Given the description of an element on the screen output the (x, y) to click on. 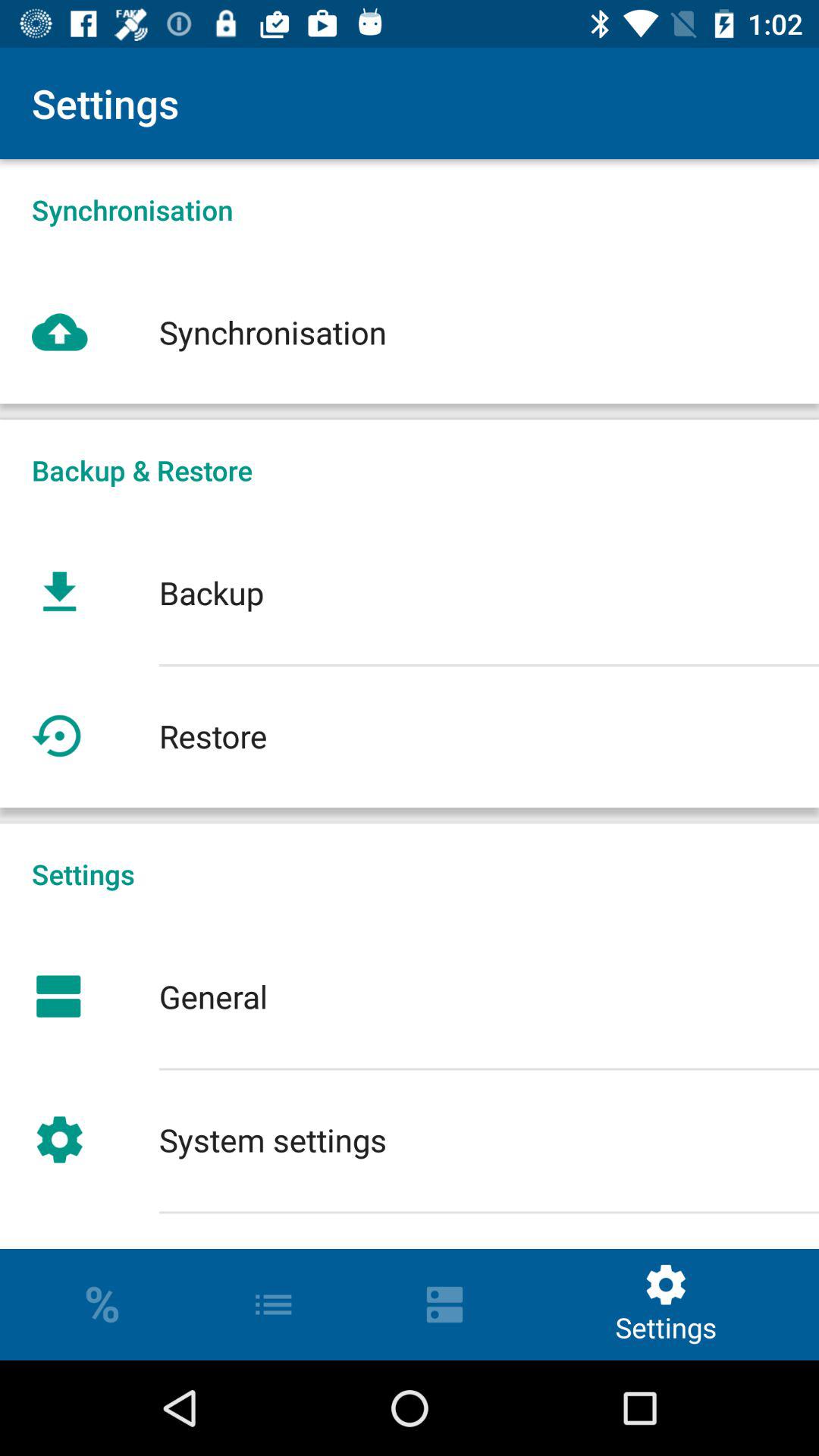
flip to the sort order settings (409, 1229)
